Given the description of an element on the screen output the (x, y) to click on. 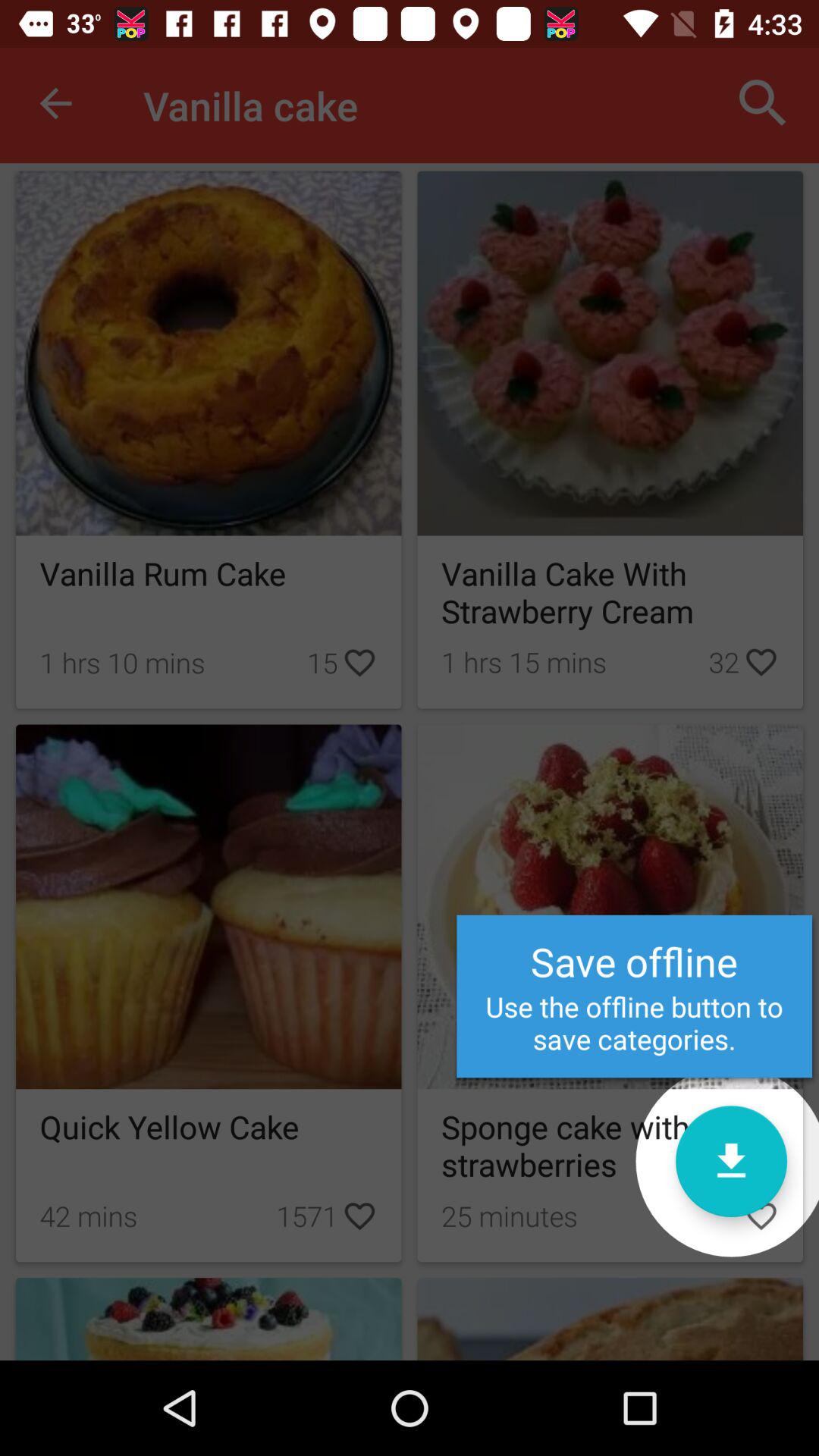
turn on icon to the left of the vanilla cake item (55, 103)
